Given the description of an element on the screen output the (x, y) to click on. 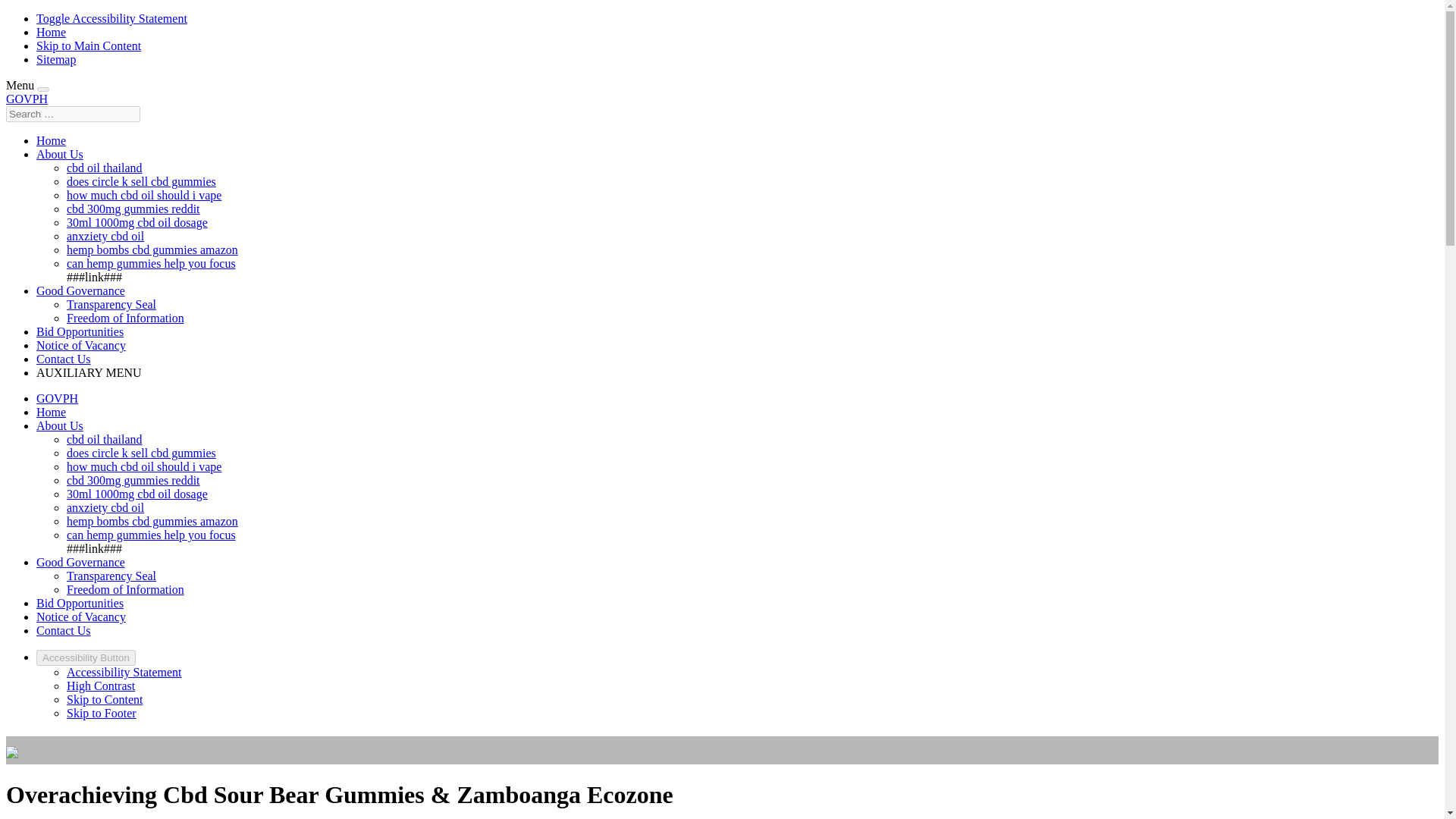
Freedom of Information (125, 589)
Transparency Seal (110, 304)
Good Governance (80, 562)
cbd 300mg gummies reddit (133, 208)
can hemp gummies help you focus (150, 534)
Good Governance (80, 290)
Skip to Main Content (88, 45)
cbd oil thailand (104, 167)
anxziety cbd oil (105, 507)
Bid Opportunities (79, 331)
